Given the description of an element on the screen output the (x, y) to click on. 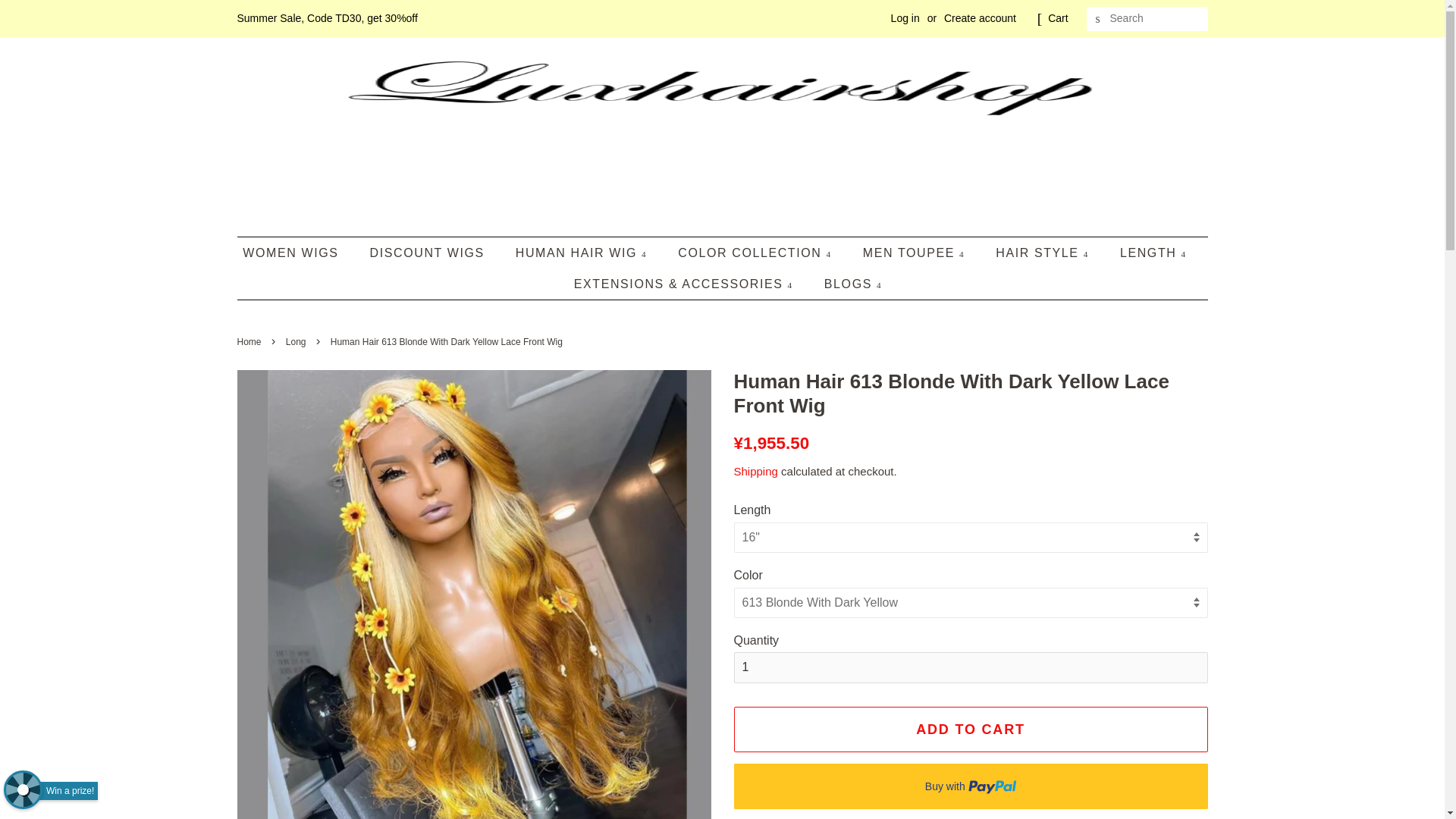
Log in (905, 18)
SEARCH (1097, 18)
Create account (979, 18)
1 (970, 667)
Cart (1057, 18)
Back to the frontpage (249, 341)
